Given the description of an element on the screen output the (x, y) to click on. 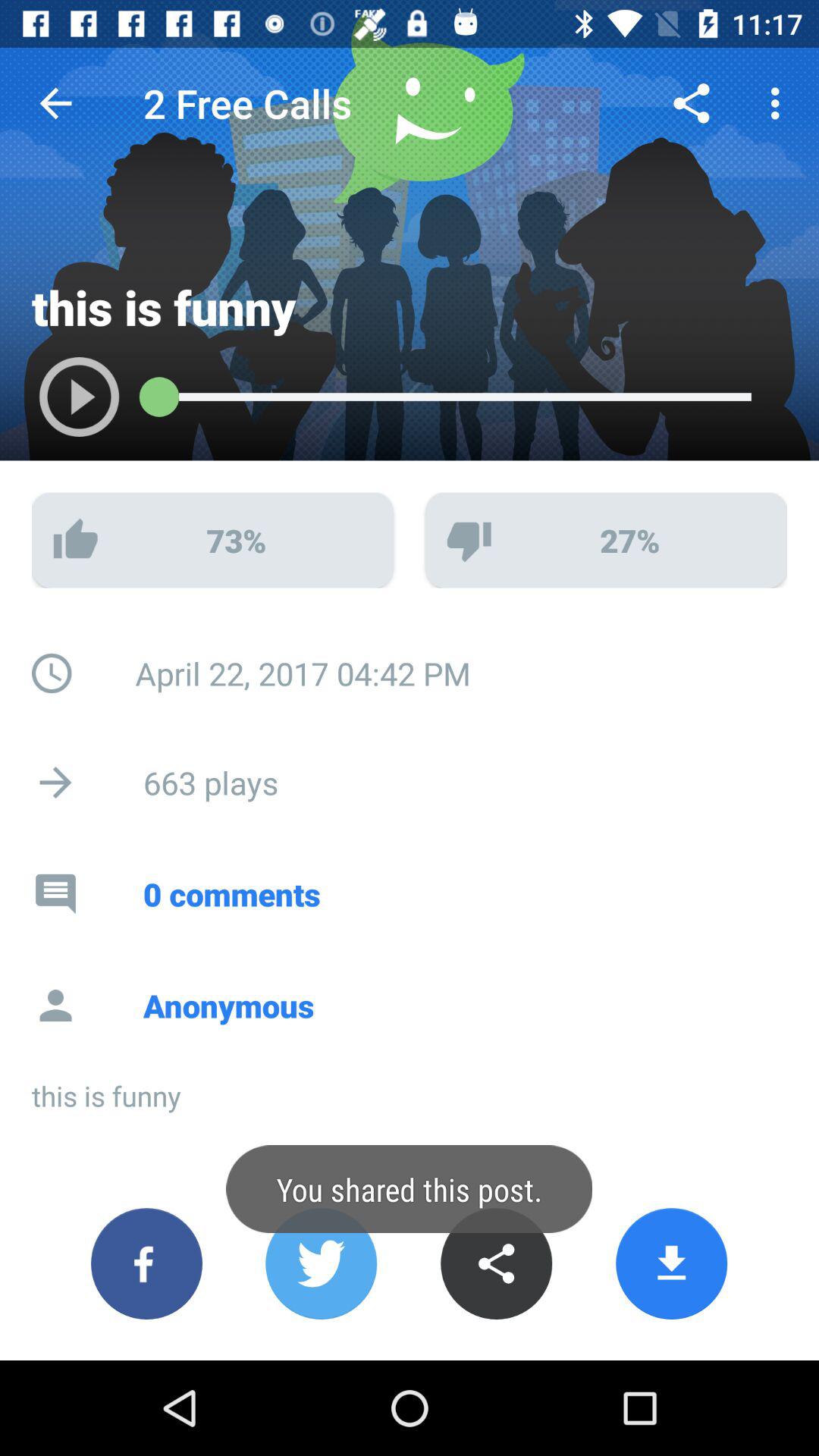
share this (496, 1263)
